Given the description of an element on the screen output the (x, y) to click on. 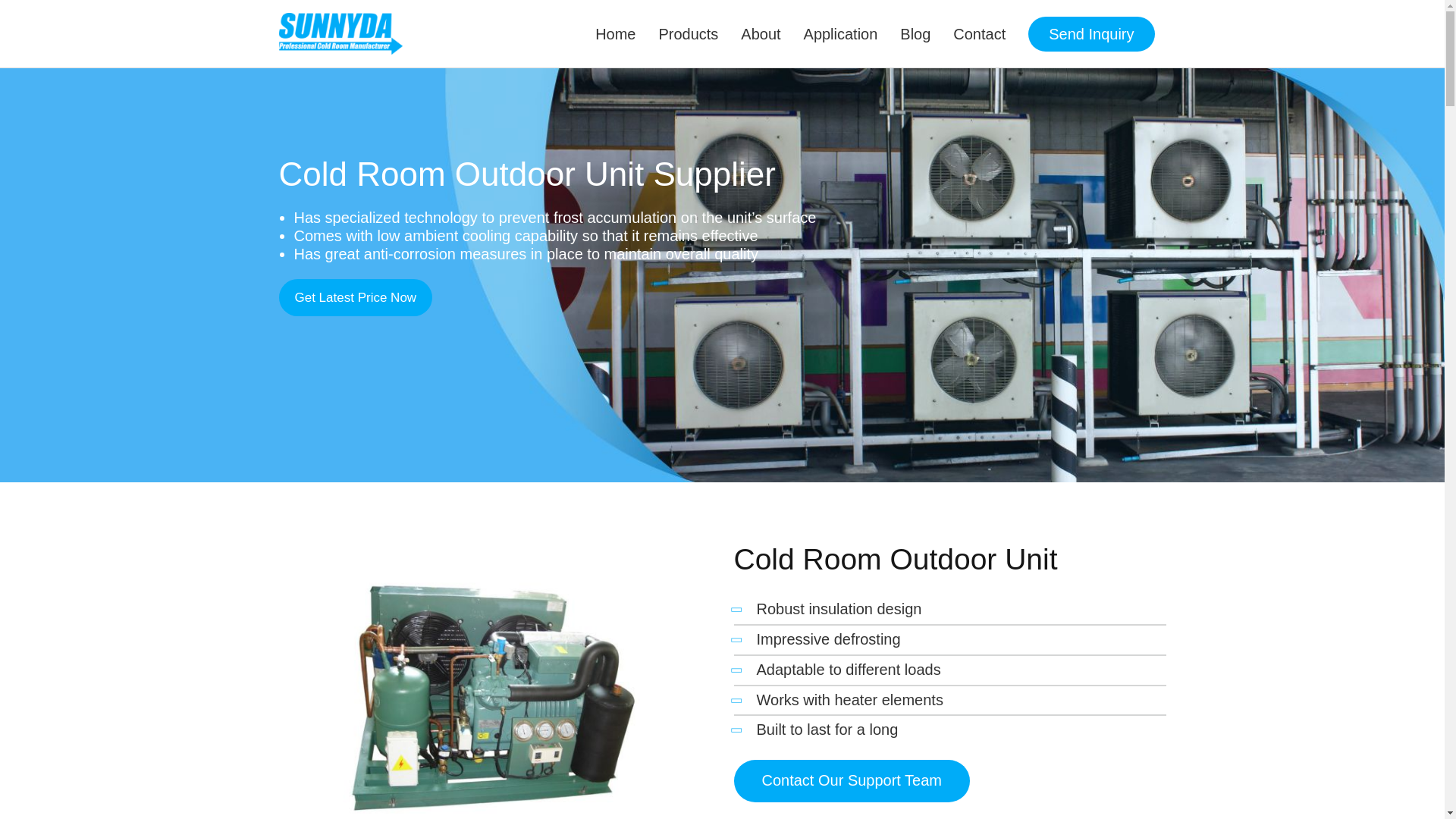
Application (840, 33)
Home (614, 33)
About (760, 33)
Products (687, 33)
